Given the description of an element on the screen output the (x, y) to click on. 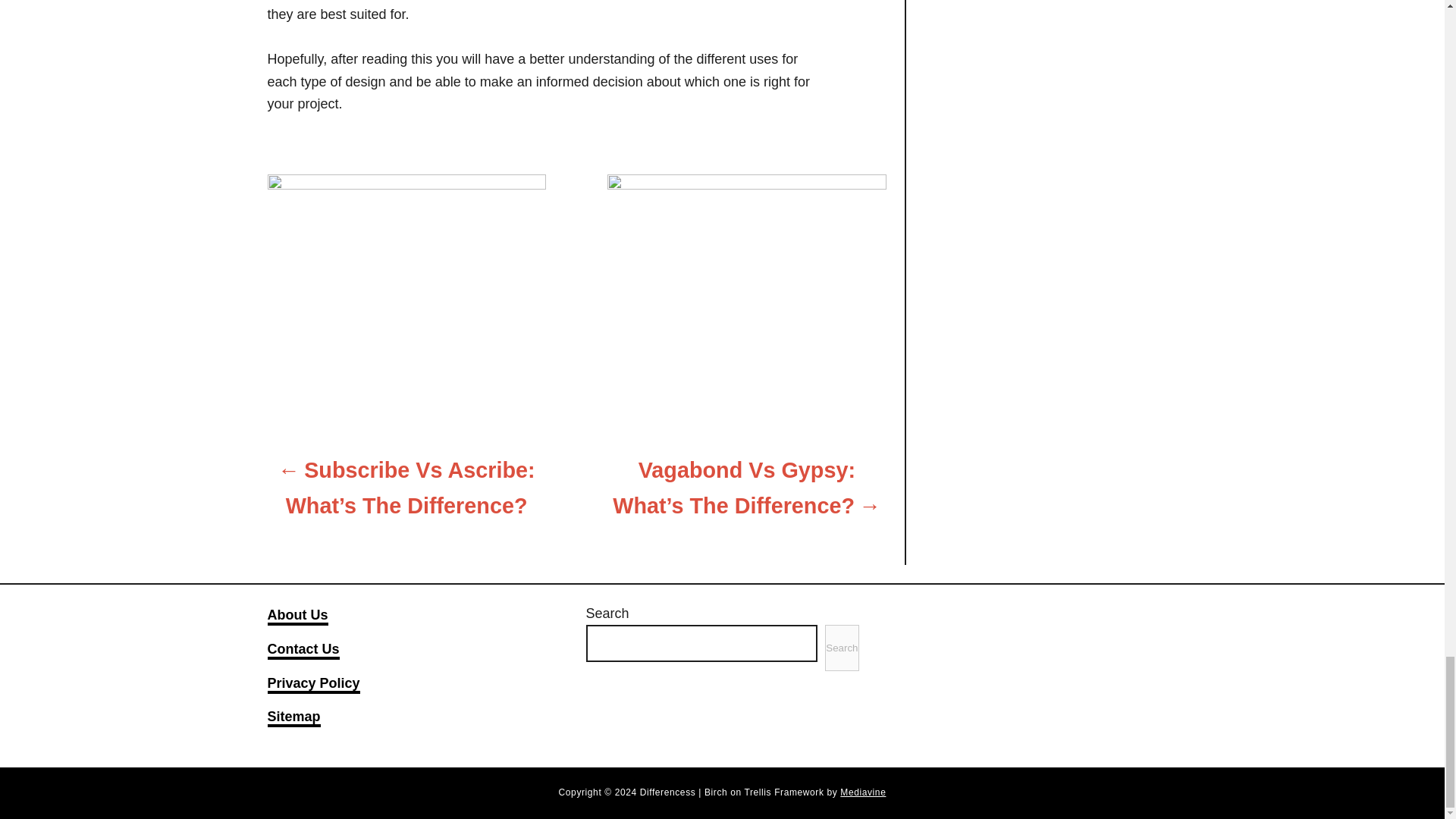
About Us (296, 616)
Privacy Policy (312, 684)
Contact Us (302, 650)
Sitemap (293, 718)
